Given the description of an element on the screen output the (x, y) to click on. 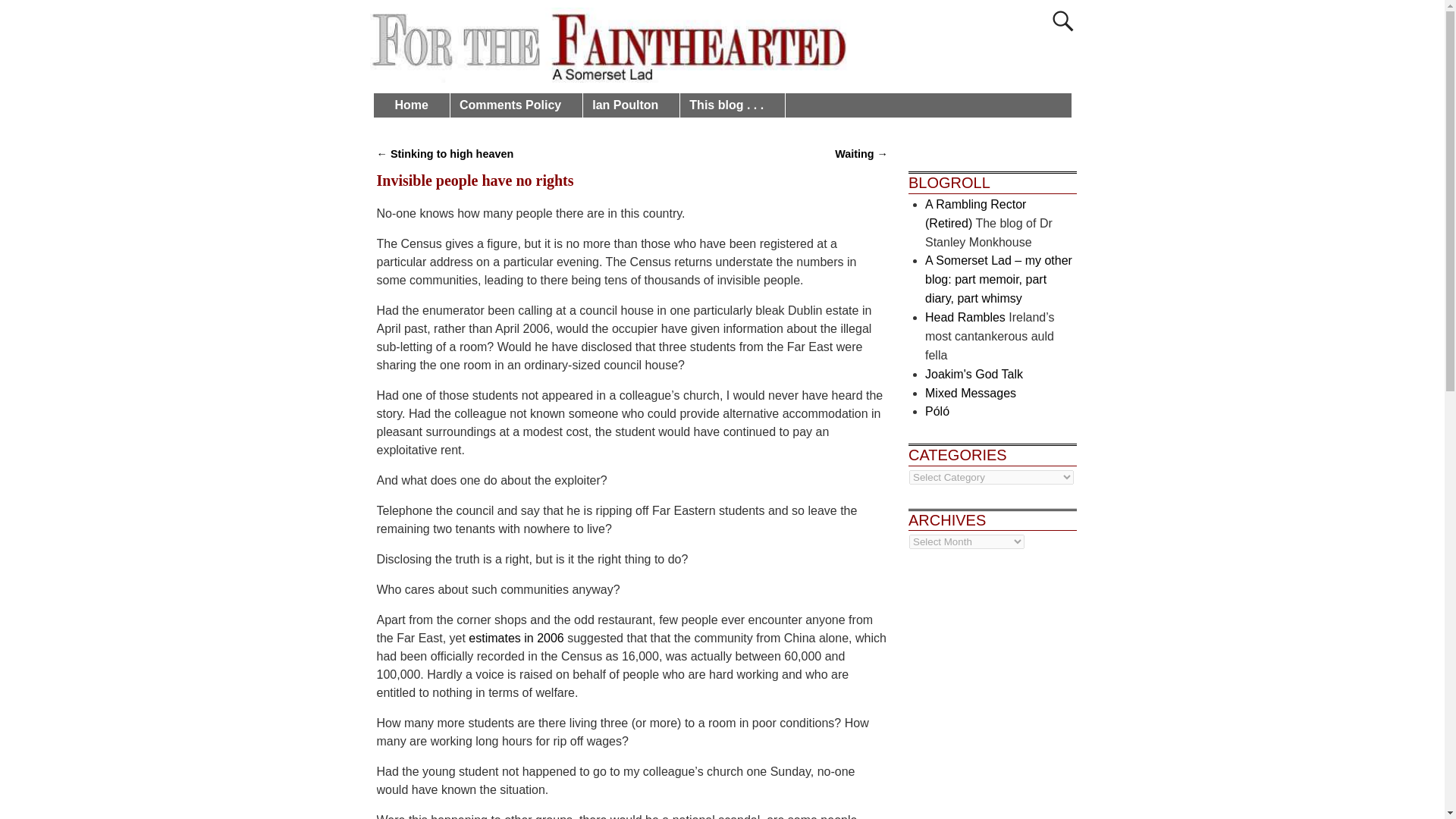
Home (416, 105)
This blog . . . (731, 105)
Mixed Messages (970, 392)
Joakim's God Talk (973, 373)
Home (416, 105)
The blog of Dr Stanley Monkhouse (975, 214)
Comments Policy (515, 105)
Head Rambles (965, 317)
Ian Poulton (631, 105)
estimates in 2006 (515, 637)
